Given the description of an element on the screen output the (x, y) to click on. 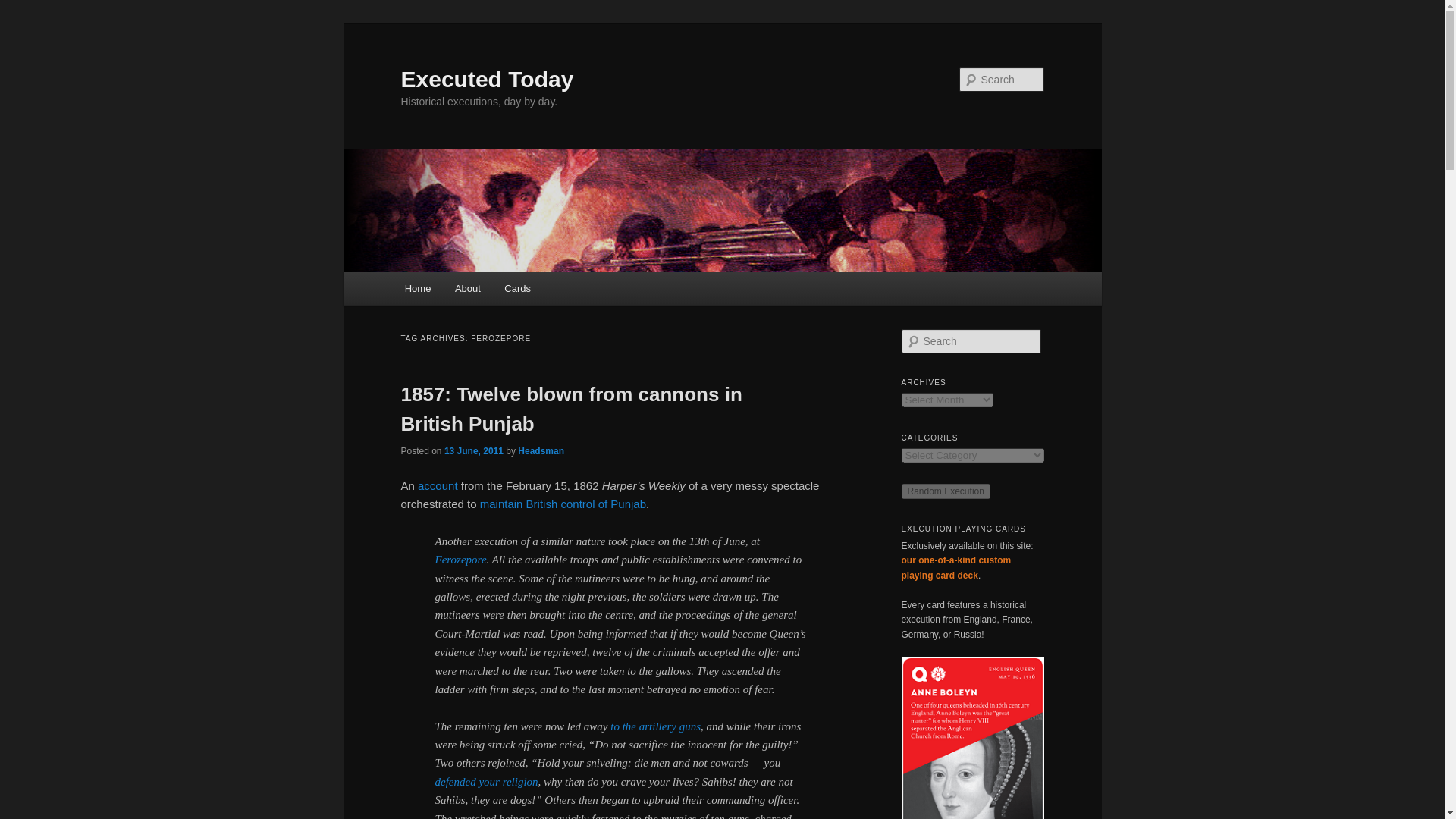
Cards (518, 287)
Ferozepore (460, 559)
View all posts by Headsman (541, 450)
Headsman (541, 450)
Search (24, 8)
Random Execution (945, 491)
account (437, 485)
4:02 am (473, 450)
Executed Today (486, 78)
1857: Twelve blown from cannons in British Punjab (570, 408)
to the artillery guns (655, 726)
13 June, 2011 (473, 450)
Home (417, 287)
maintain British control of Punjab (563, 503)
About (467, 287)
